Given the description of an element on the screen output the (x, y) to click on. 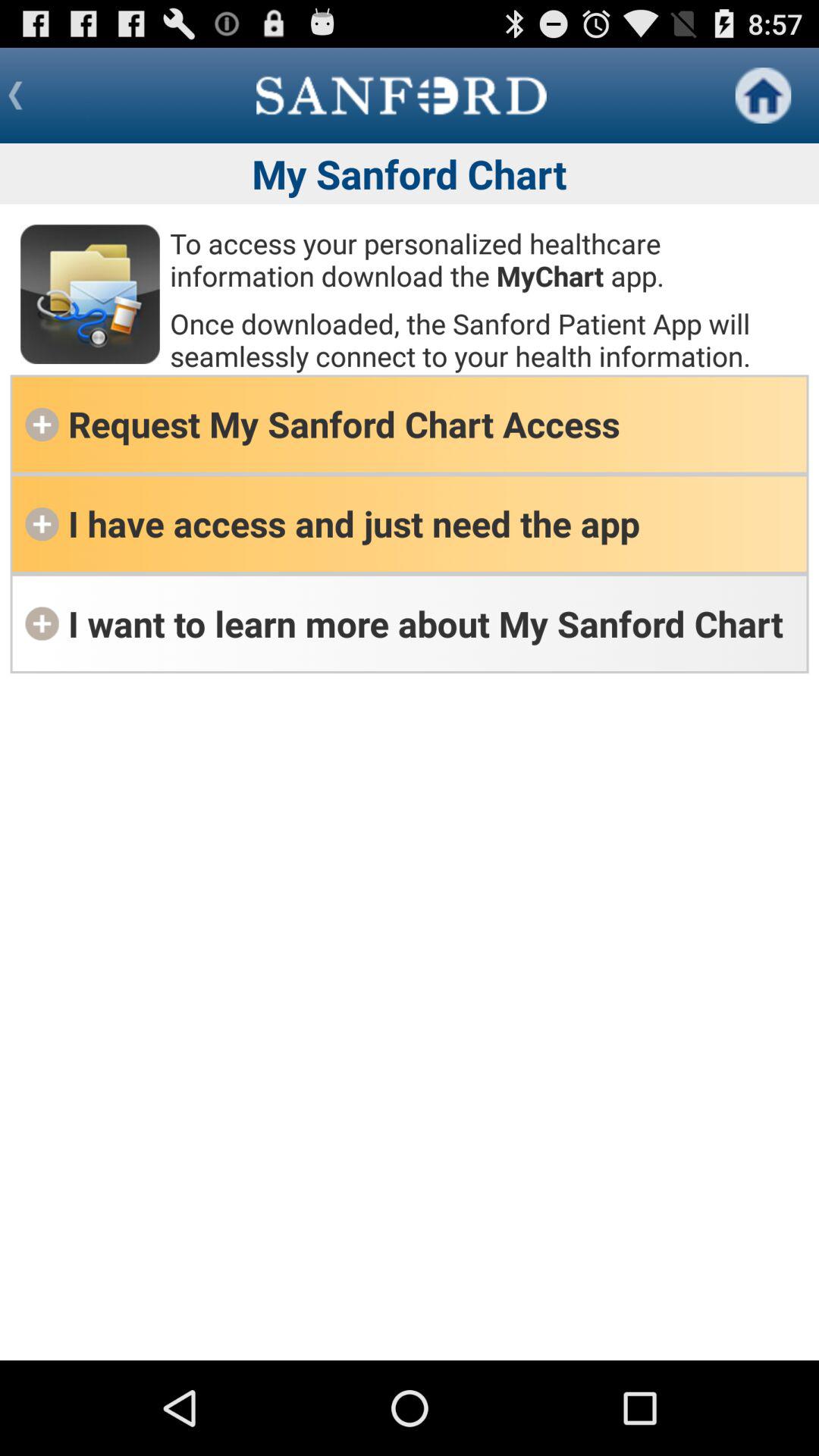
click on image under my sanford chart (89, 294)
click the home icon button (763, 95)
click on the plus icon at the bottom (42, 623)
